Given the description of an element on the screen output the (x, y) to click on. 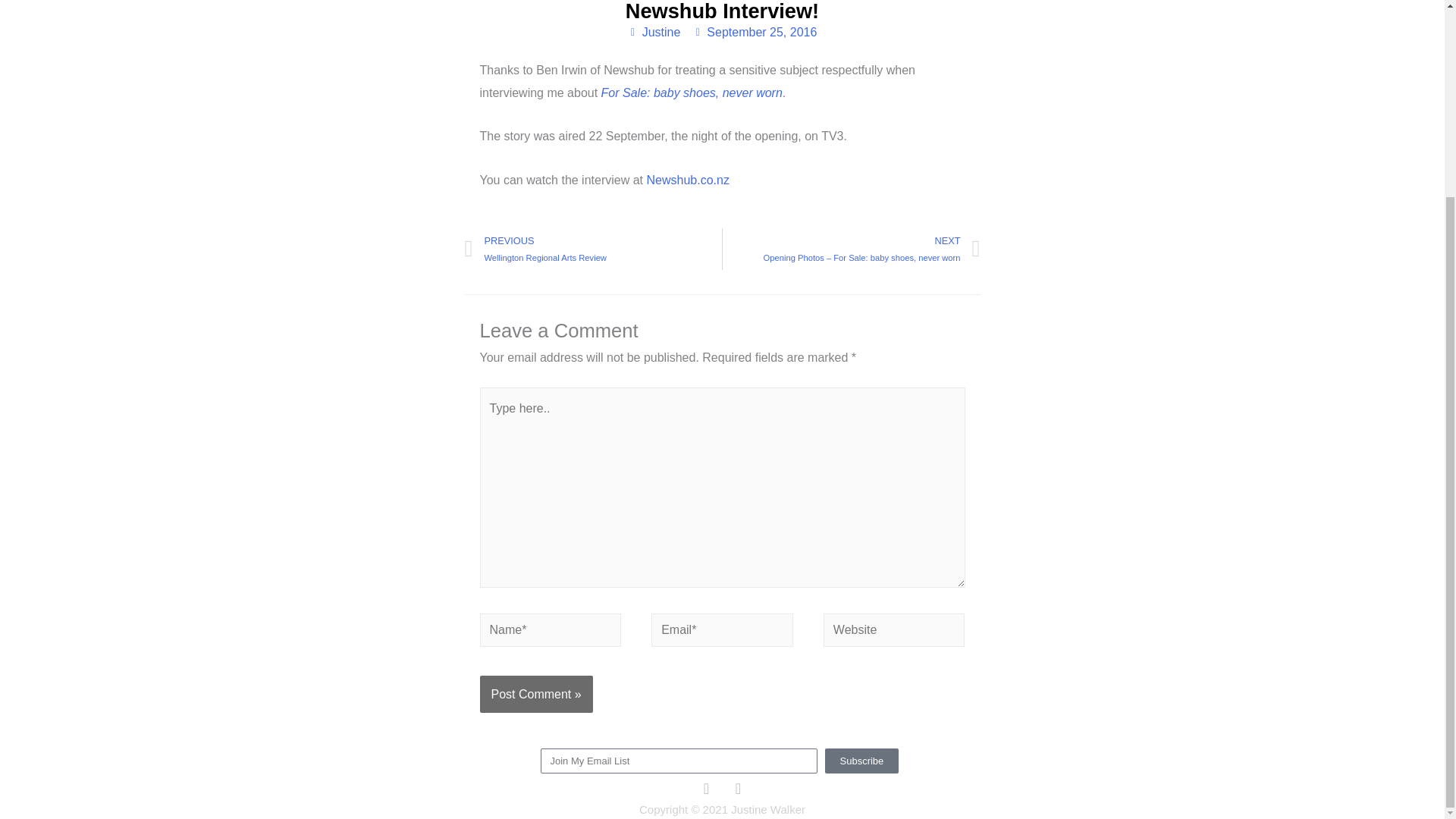
Justine (654, 32)
Newshub.co.nz (687, 179)
September 25, 2016 (754, 32)
For Sale: baby shoes, never worn (593, 249)
Subscribe (692, 92)
